Given the description of an element on the screen output the (x, y) to click on. 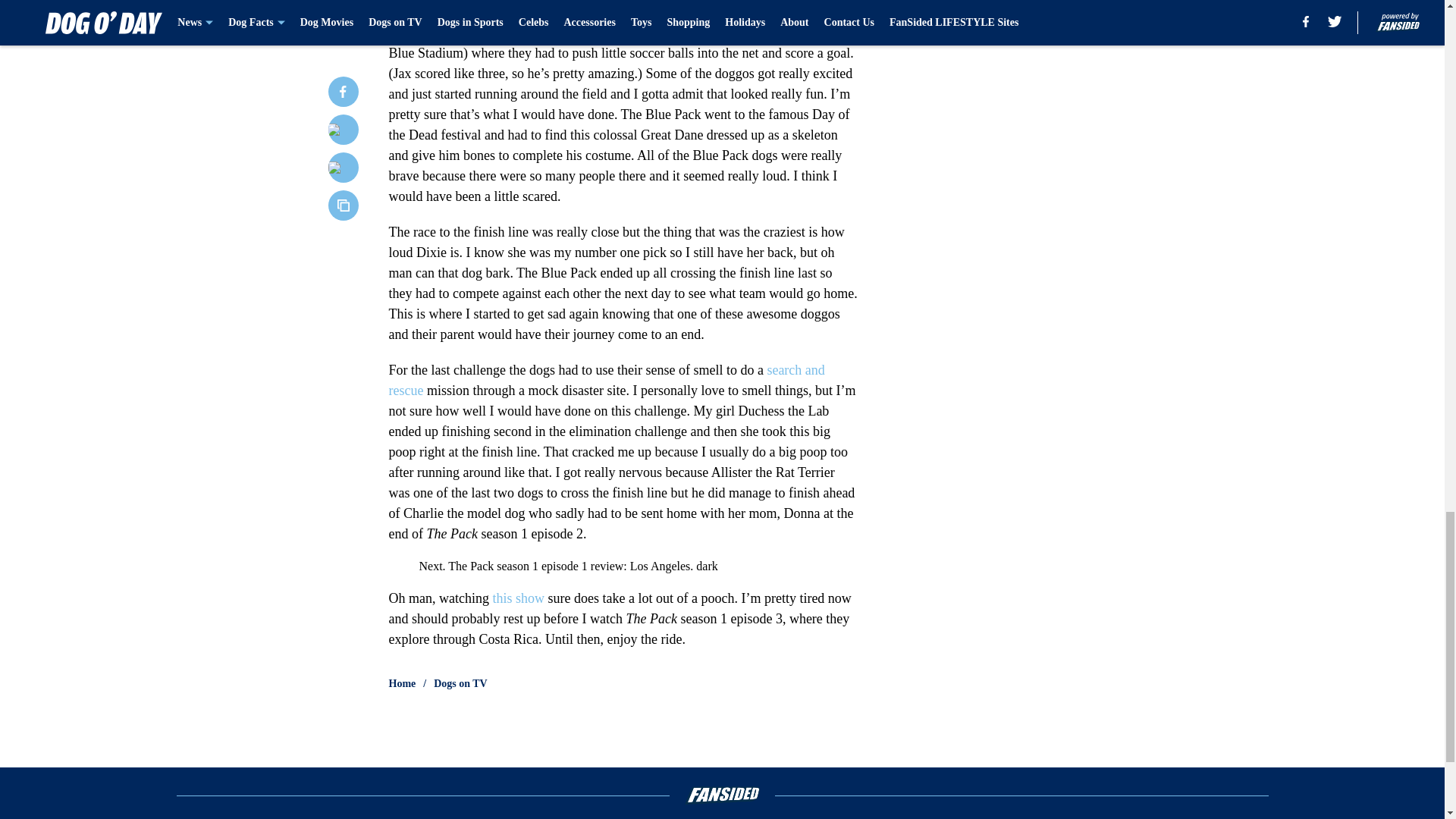
search and rescue (606, 380)
football (682, 32)
this show (518, 598)
